Given the description of an element on the screen output the (x, y) to click on. 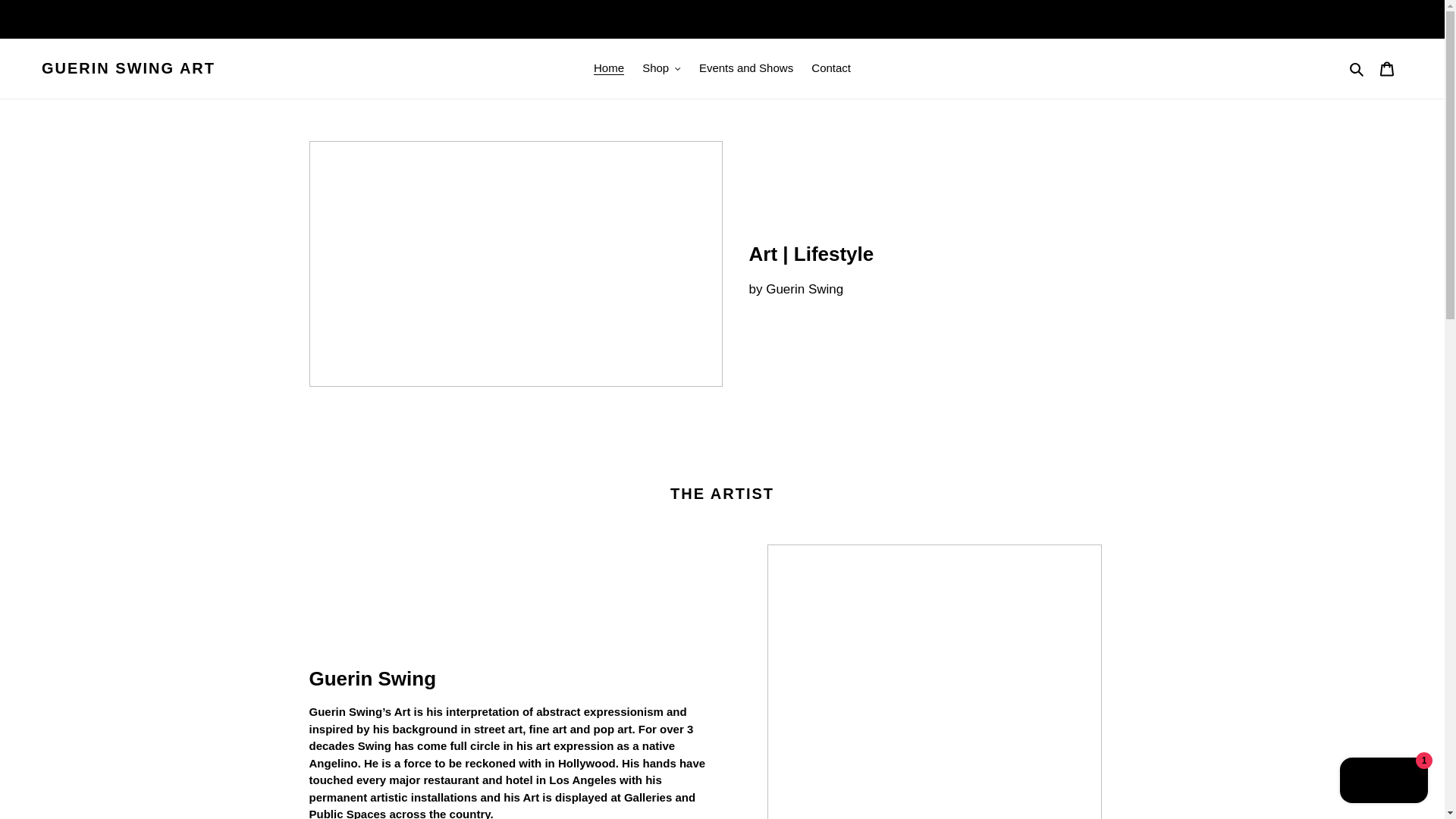
Cart (1387, 68)
Shopify online store chat (1383, 781)
Home (608, 68)
Contact (831, 68)
Events and Shows (745, 68)
Shop (661, 68)
Art Show in progress at Gladys Tamez Millenary (721, 18)
Search (1357, 67)
GUERIN SWING ART (128, 67)
